Given the description of an element on the screen output the (x, y) to click on. 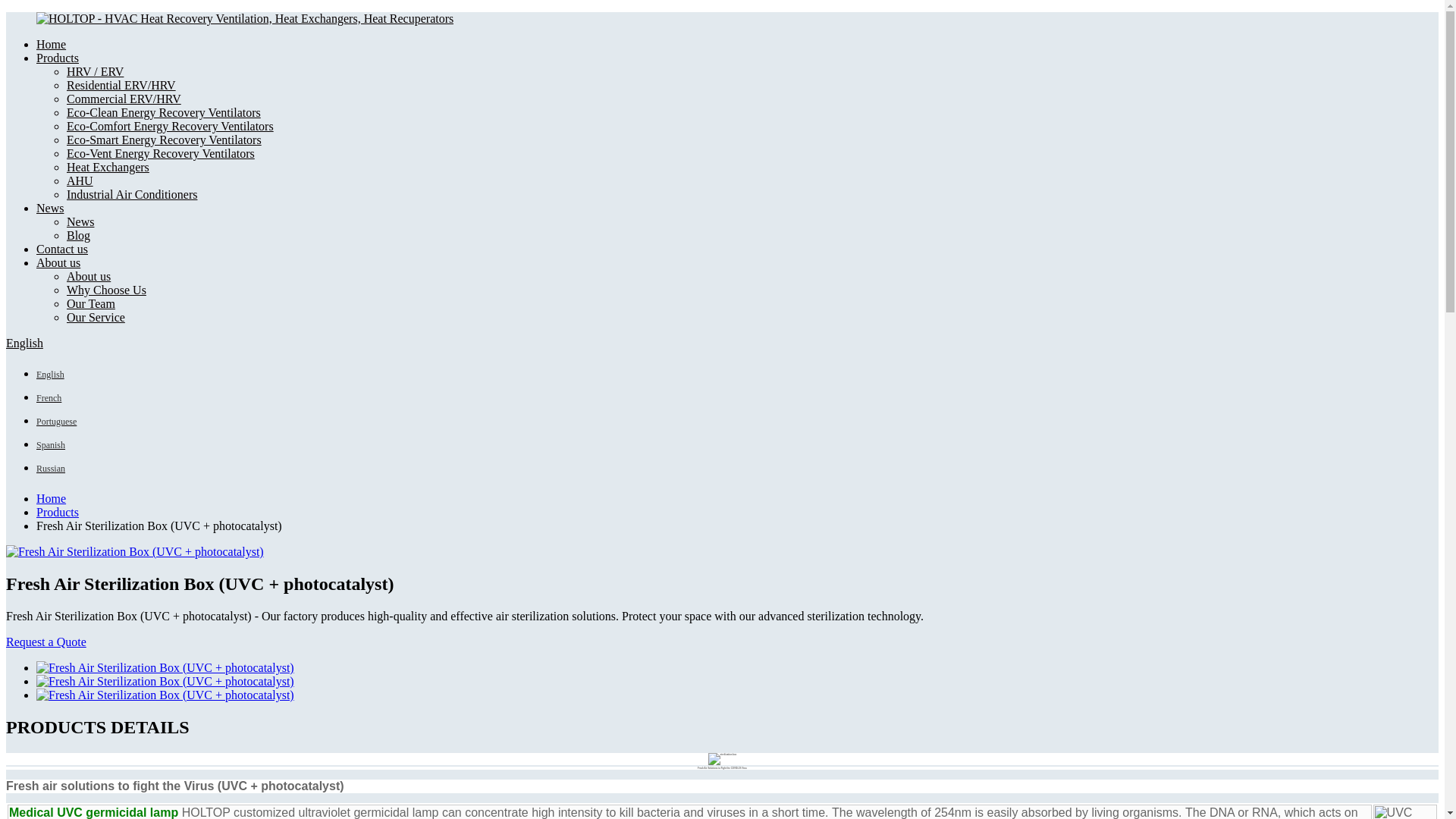
Heat Exchangers (107, 166)
Spanish (50, 443)
Why Choose Us (106, 289)
French (48, 396)
AHU (79, 180)
News (80, 221)
Products (57, 57)
Request a Quote (45, 641)
Portuguese (56, 420)
Eco-Vent Energy Recovery Ventilators (160, 153)
Eco-Clean Energy Recovery Ventilators (163, 112)
English (24, 342)
Products (57, 512)
Our Service (95, 317)
English (24, 342)
